Given the description of an element on the screen output the (x, y) to click on. 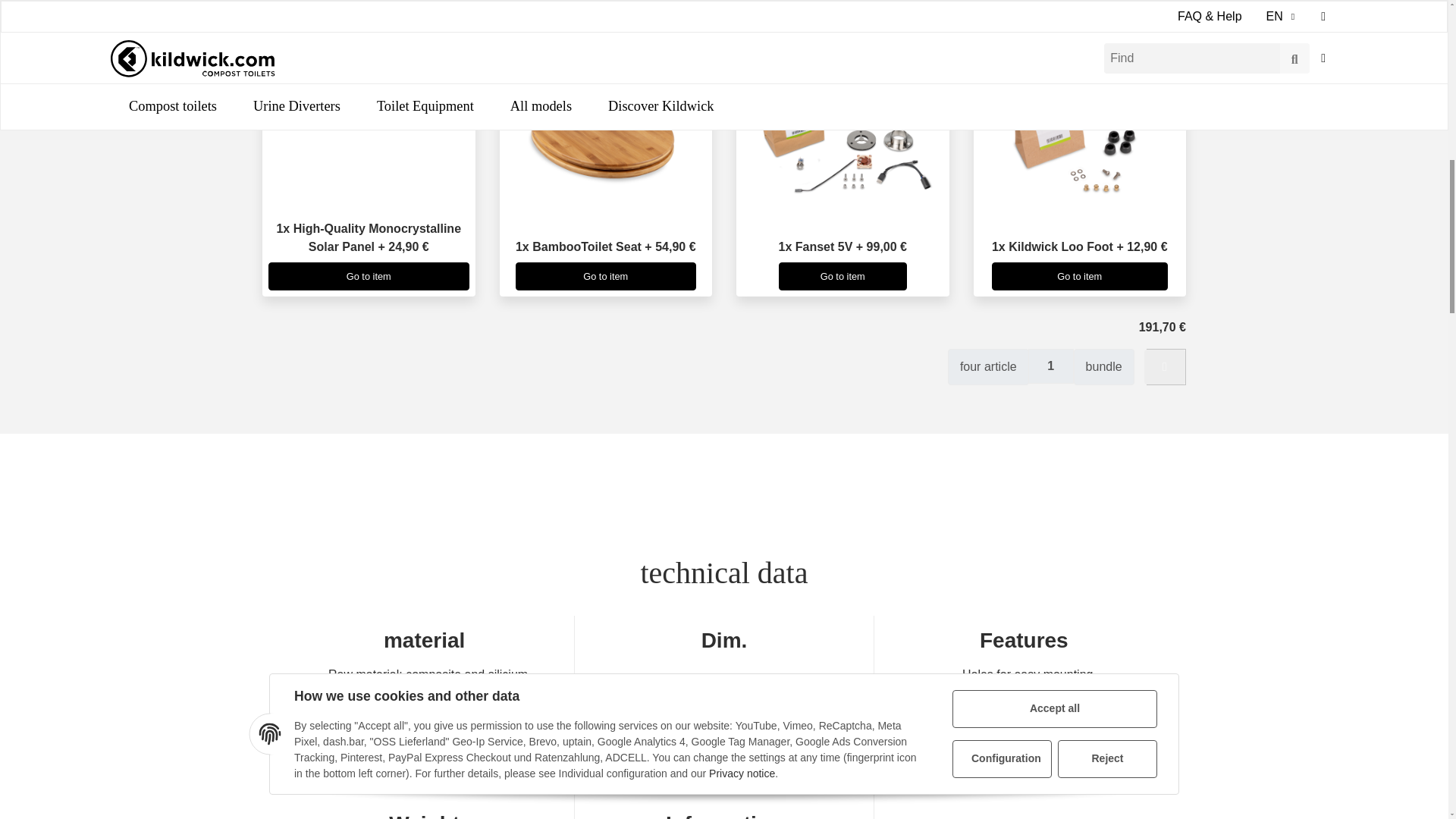
1 (1050, 366)
